Given the description of an element on the screen output the (x, y) to click on. 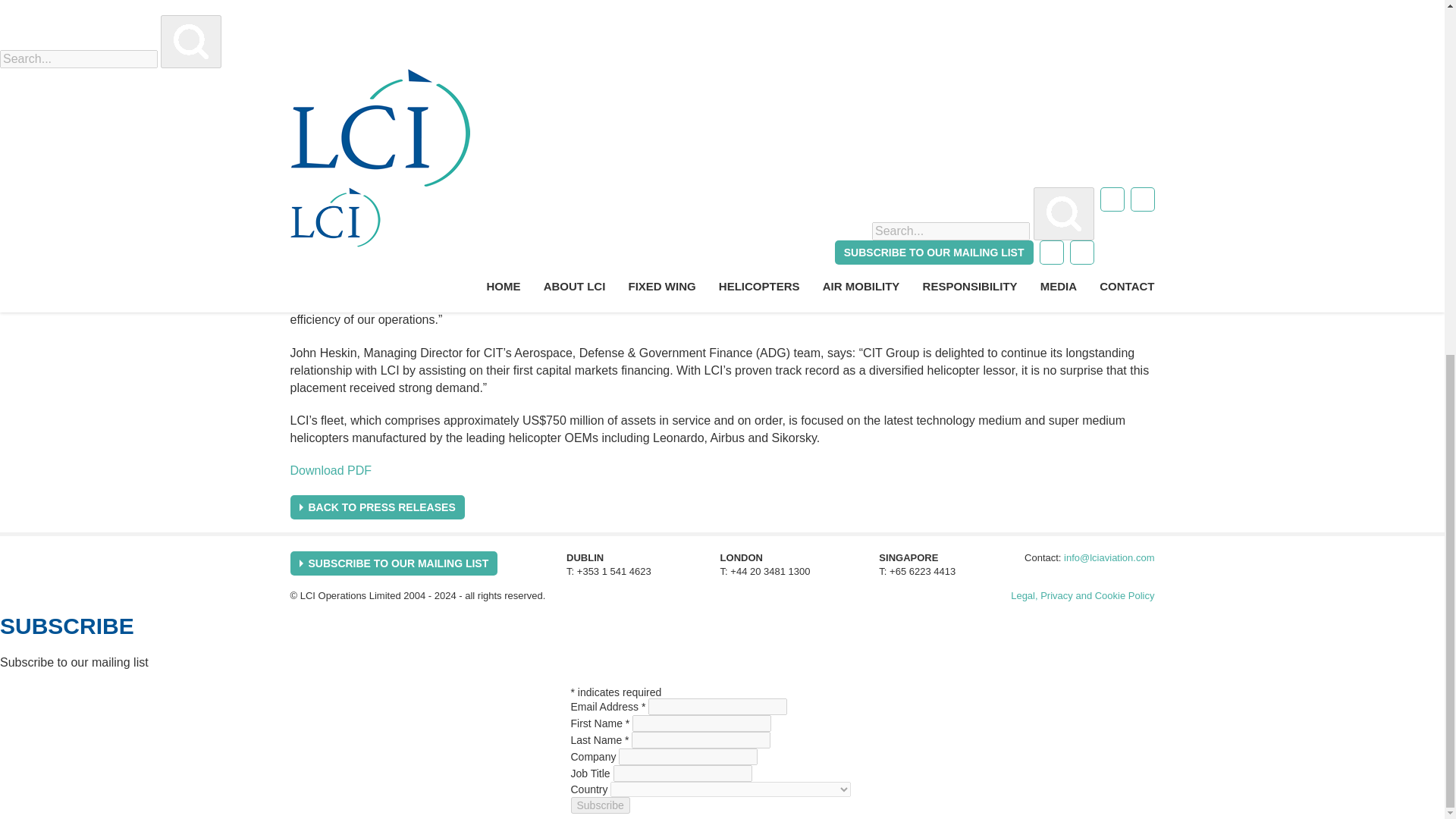
Prudential Capital Group (355, 183)
Subscribe (599, 805)
